Given the description of an element on the screen output the (x, y) to click on. 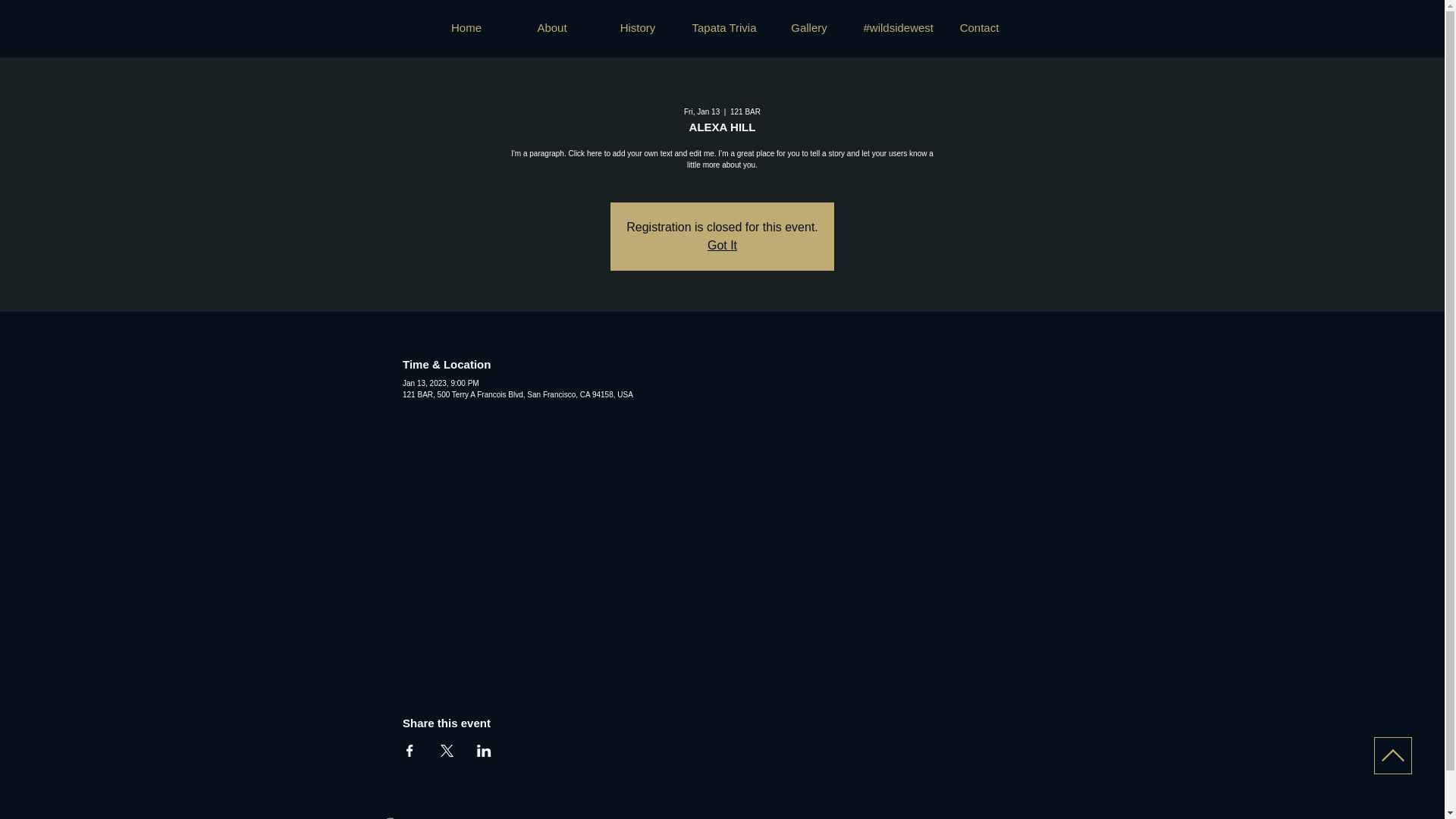
Contact (979, 27)
Gallery (808, 27)
History (636, 27)
Home (465, 27)
About (552, 27)
Tapata Trivia (724, 27)
Got It (721, 245)
